Given the description of an element on the screen output the (x, y) to click on. 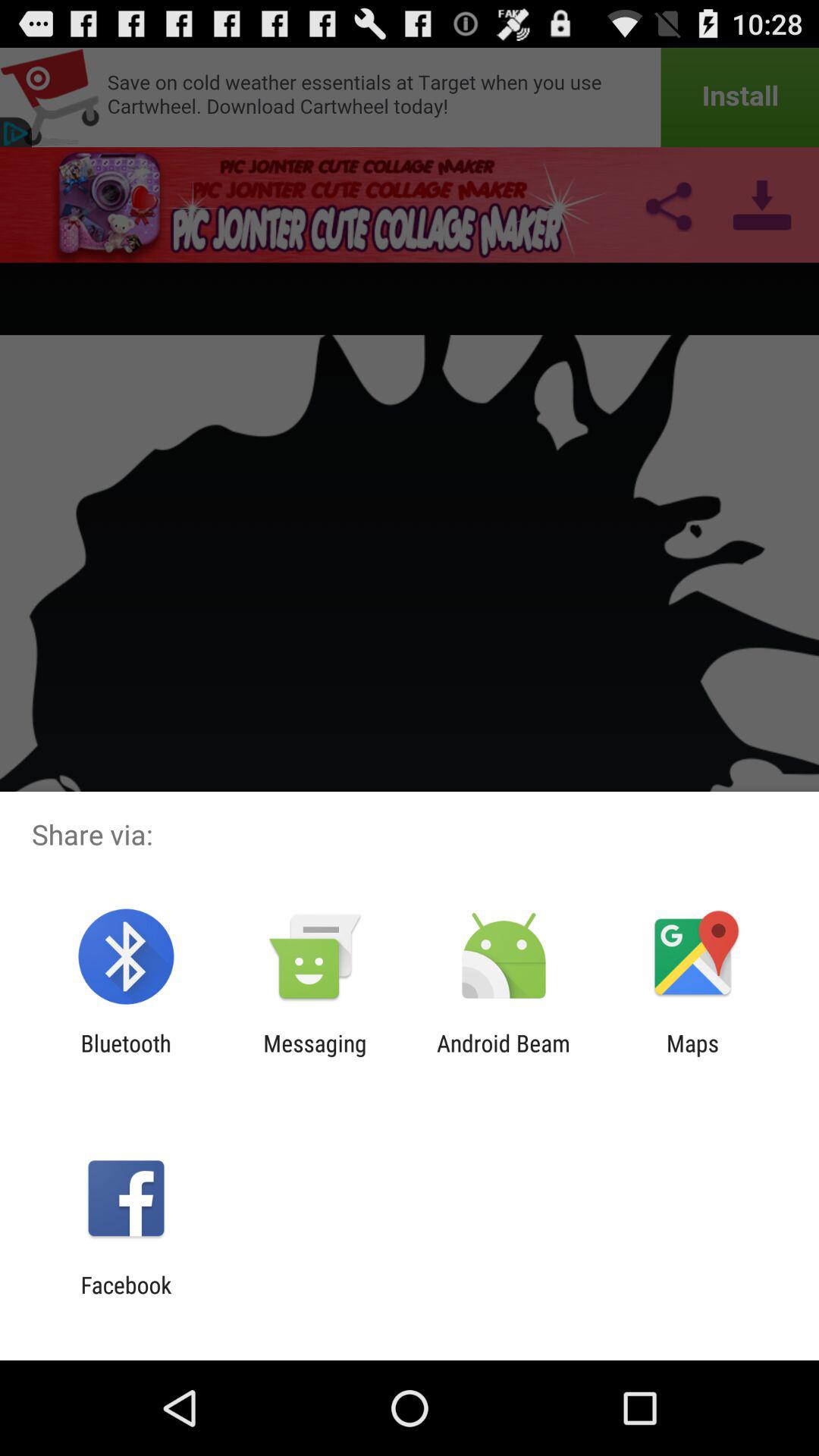
turn off app next to messaging (125, 1056)
